Given the description of an element on the screen output the (x, y) to click on. 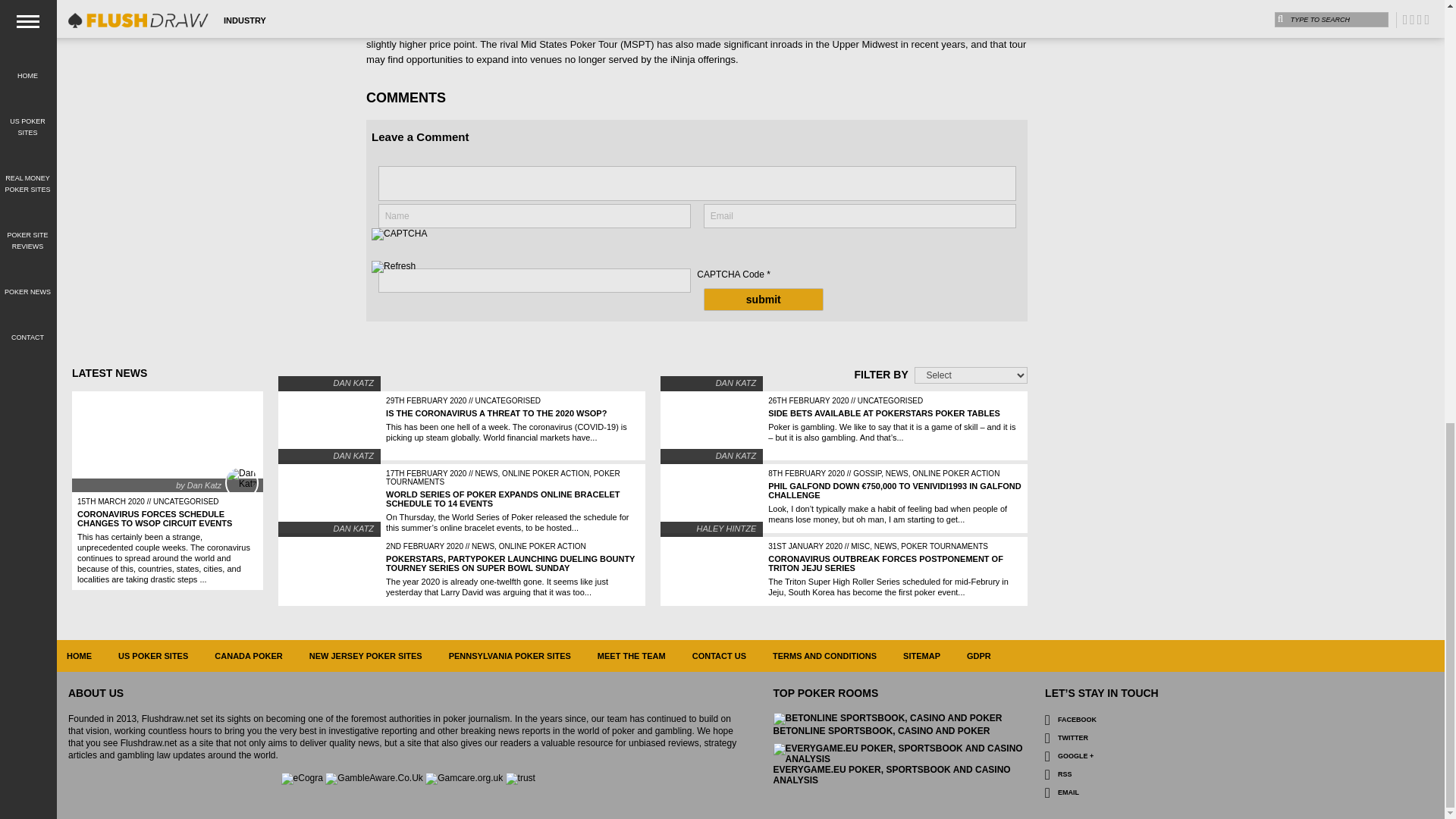
Refresh (392, 267)
Coronavirus Forces Schedule Changes to WSOP Circuit Events (154, 518)
Side Bets Available at PokerStars Poker Tables (884, 412)
Is the Coronavirus a Threat to the 2020 WSOP? (496, 412)
CAPTCHA (421, 244)
Coronavirus Forces Schedule Changes to WSOP Circuit Events (167, 441)
Submit (763, 299)
